Given the description of an element on the screen output the (x, y) to click on. 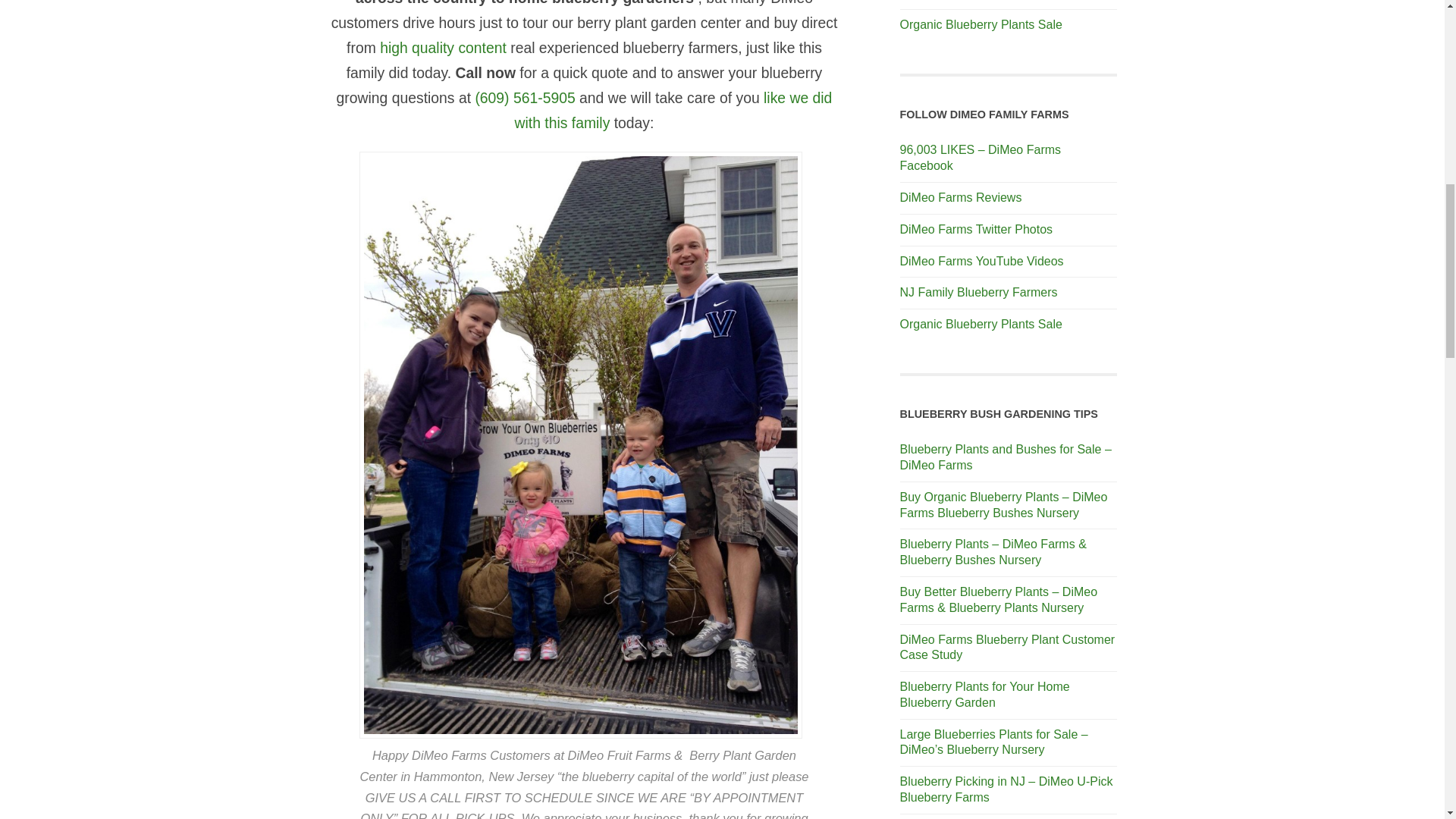
like we did with this family (673, 110)
Watch DiMeo Fruit Farms YouTube Videos (980, 260)
Follow DiMeo Fruit Farms on Twitter (975, 228)
DiMeo Fruit Farms Customer Reviews (960, 196)
DiMeo Blueberry Farms Facebook (980, 157)
high quality content (443, 47)
